Given the description of an element on the screen output the (x, y) to click on. 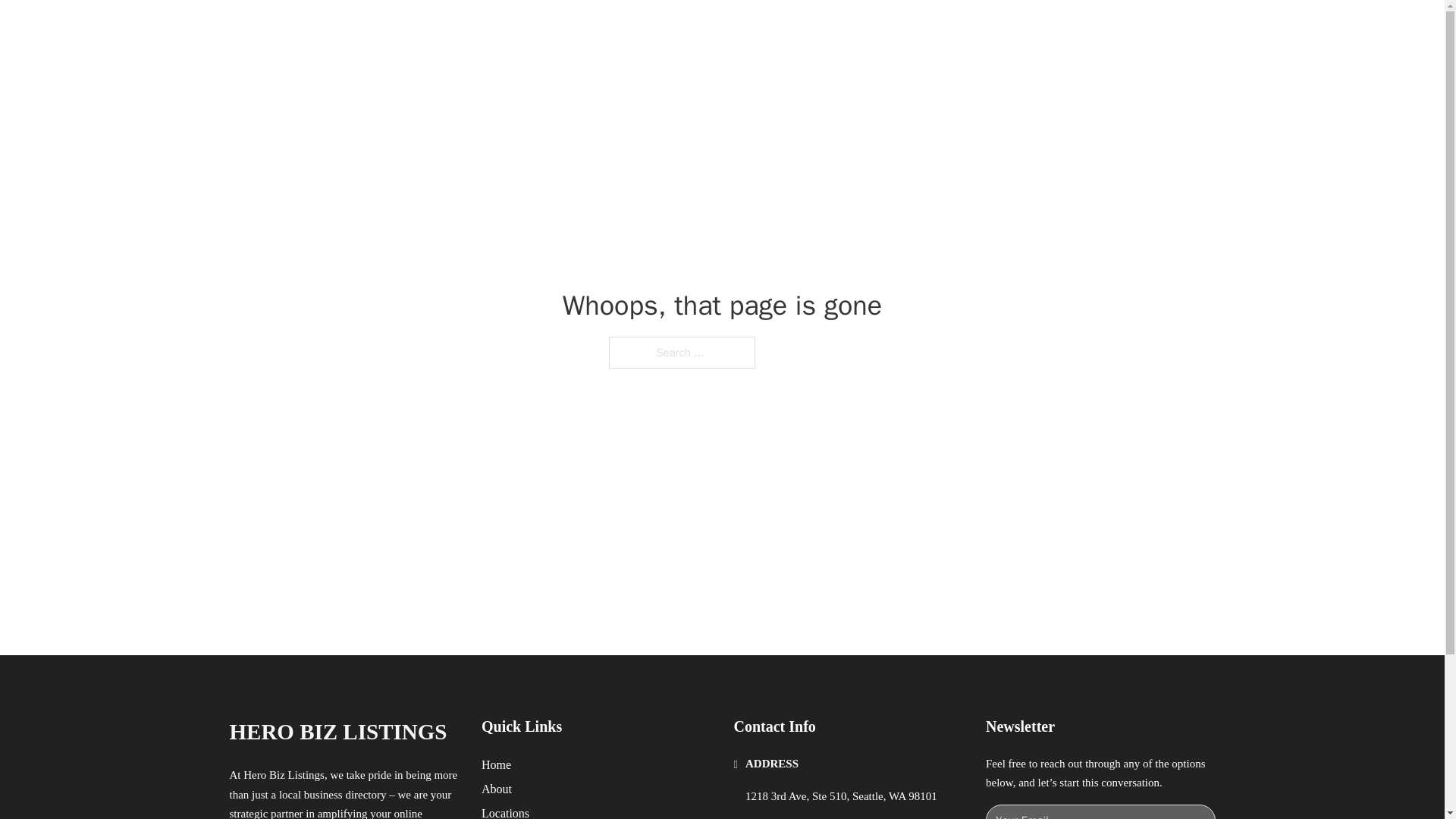
HOME (919, 29)
Home (496, 764)
About (496, 788)
Locations (505, 811)
LOCATIONS (990, 29)
HERO BIZ LISTINGS (337, 732)
